Given the description of an element on the screen output the (x, y) to click on. 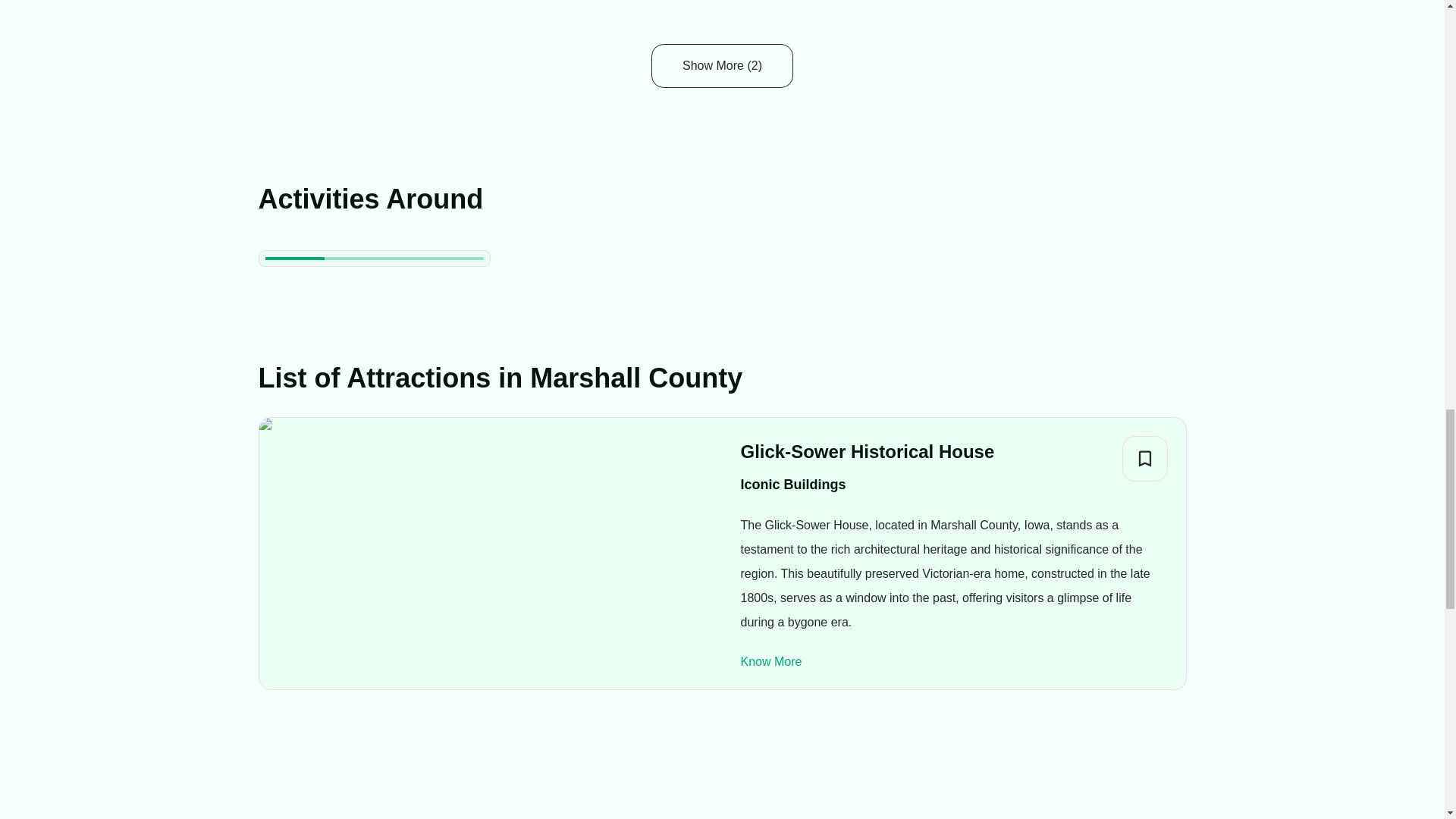
Know More (770, 661)
Add to Bucket List (1144, 458)
Glick-Sower Historical House (866, 451)
